Given the description of an element on the screen output the (x, y) to click on. 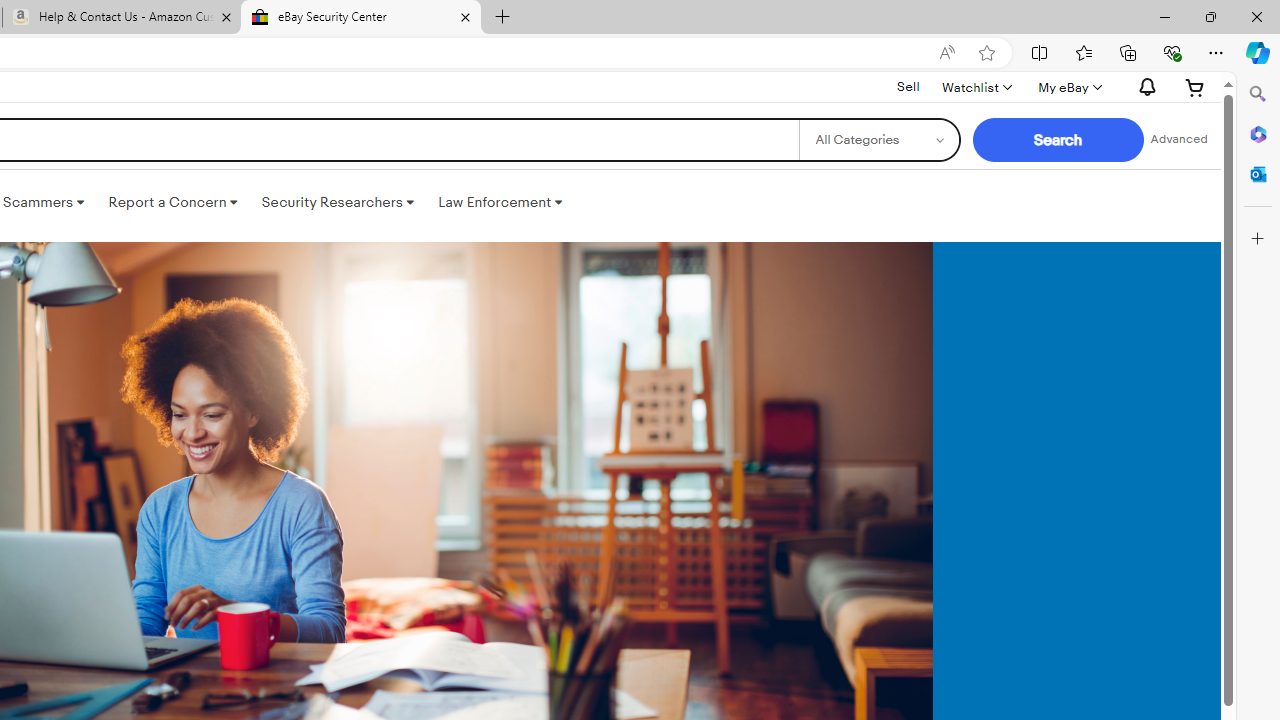
WatchlistExpand Watch List (975, 87)
Report a Concern  (173, 202)
